Given the description of an element on the screen output the (x, y) to click on. 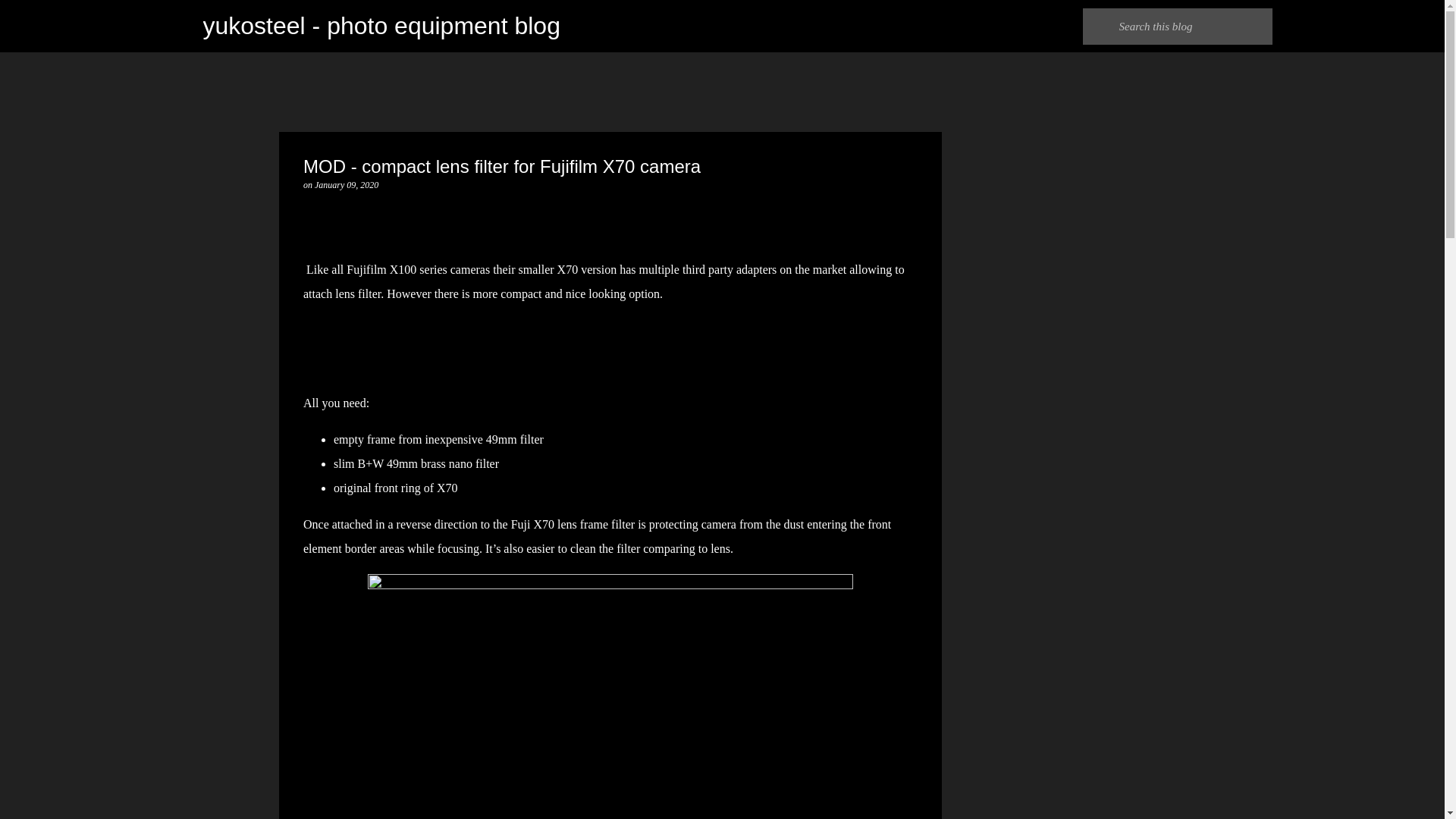
permanent link (346, 184)
January 09, 2020 (346, 184)
yukosteel - photo equipment blog (381, 25)
